Given the description of an element on the screen output the (x, y) to click on. 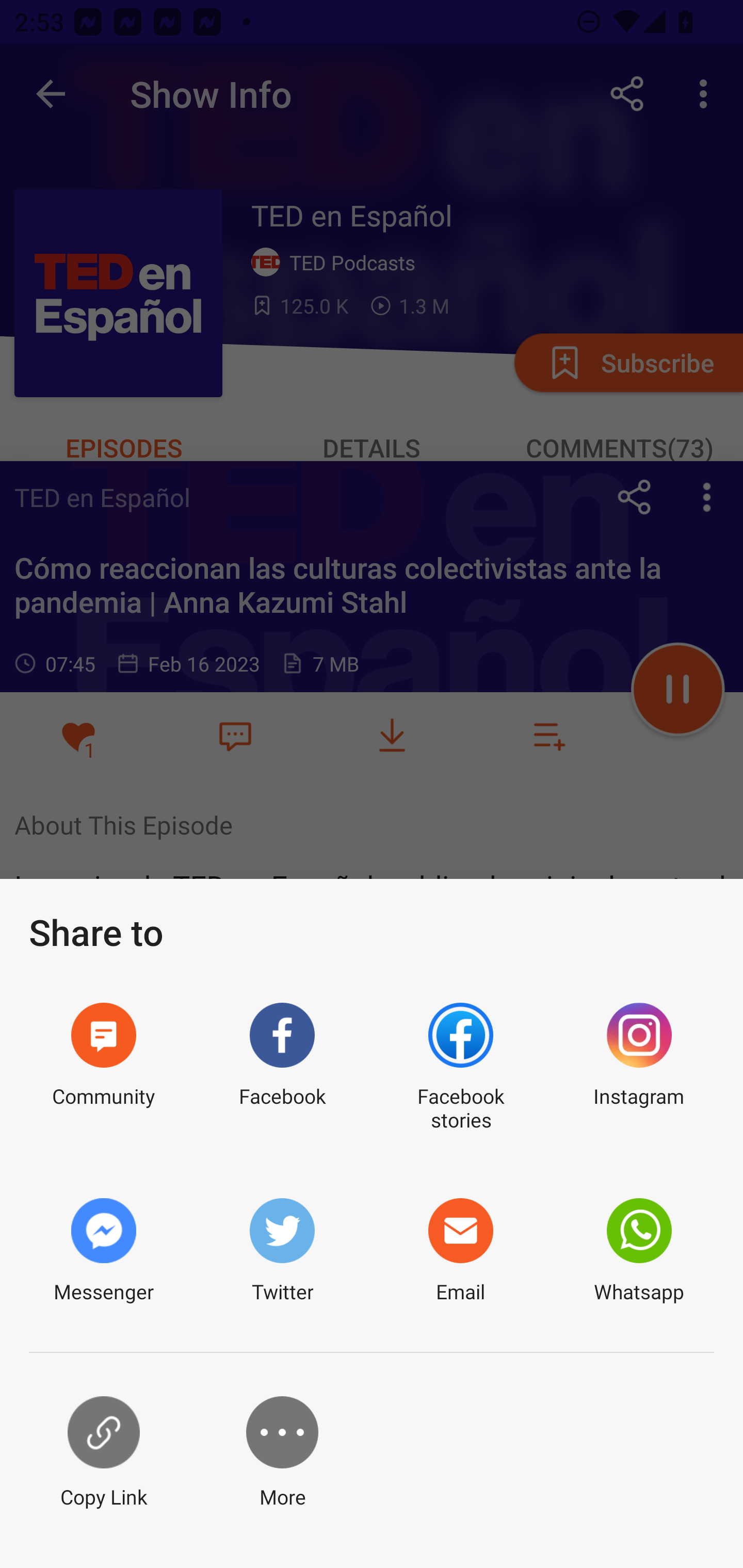
Community (103, 1067)
Facebook (282, 1067)
Facebook stories (460, 1067)
Instagram (638, 1067)
Messenger (103, 1251)
Twitter (282, 1251)
Email (460, 1251)
Whatsapp (638, 1251)
Copy Link (103, 1453)
More (282, 1453)
